Given the description of an element on the screen output the (x, y) to click on. 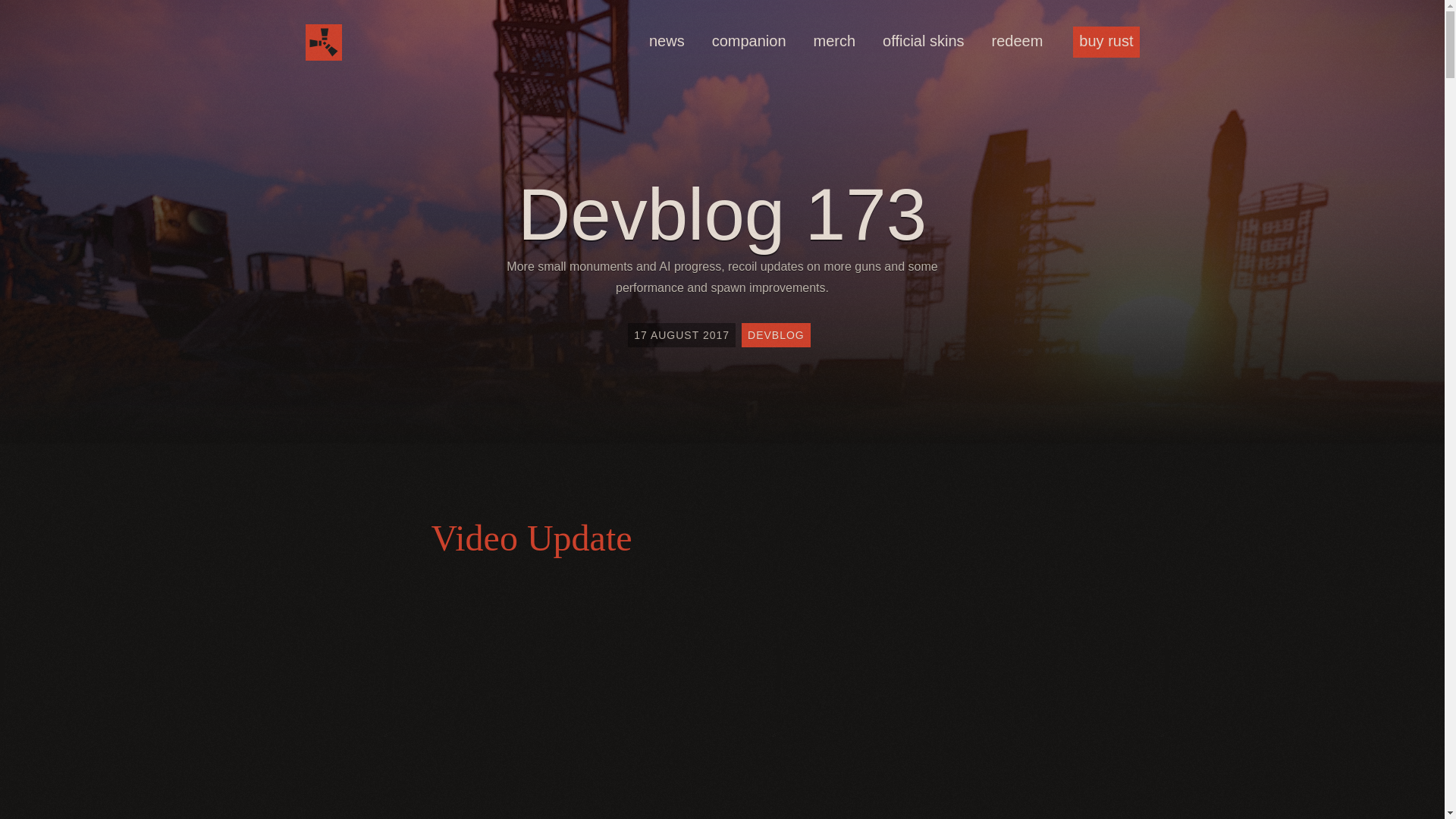
official skins (922, 40)
DEVBLOG (775, 334)
redeem (1017, 40)
merch (833, 40)
buy rust (1105, 40)
companion (749, 40)
Video Update (721, 537)
news (666, 40)
